Given the description of an element on the screen output the (x, y) to click on. 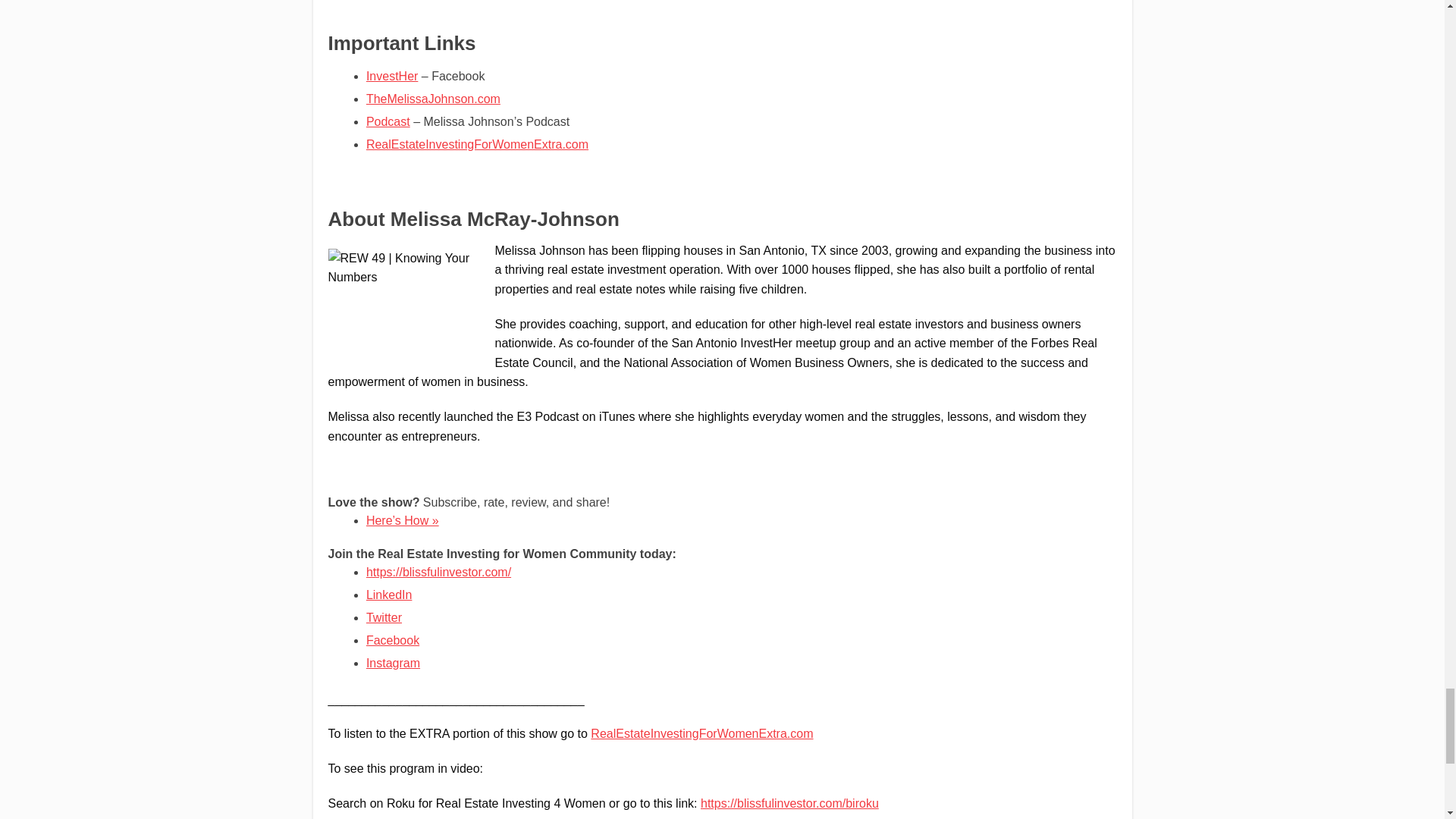
Twitter (383, 617)
Instagram (393, 662)
Podcast (388, 121)
RealEstateInvestingForWomenExtra.com (477, 144)
Facebook (392, 640)
InvestHer (391, 75)
RealEstateInvestingForWomenExtra.com (701, 733)
LinkedIn (389, 594)
TheMelissaJohnson.com (433, 98)
